Given the description of an element on the screen output the (x, y) to click on. 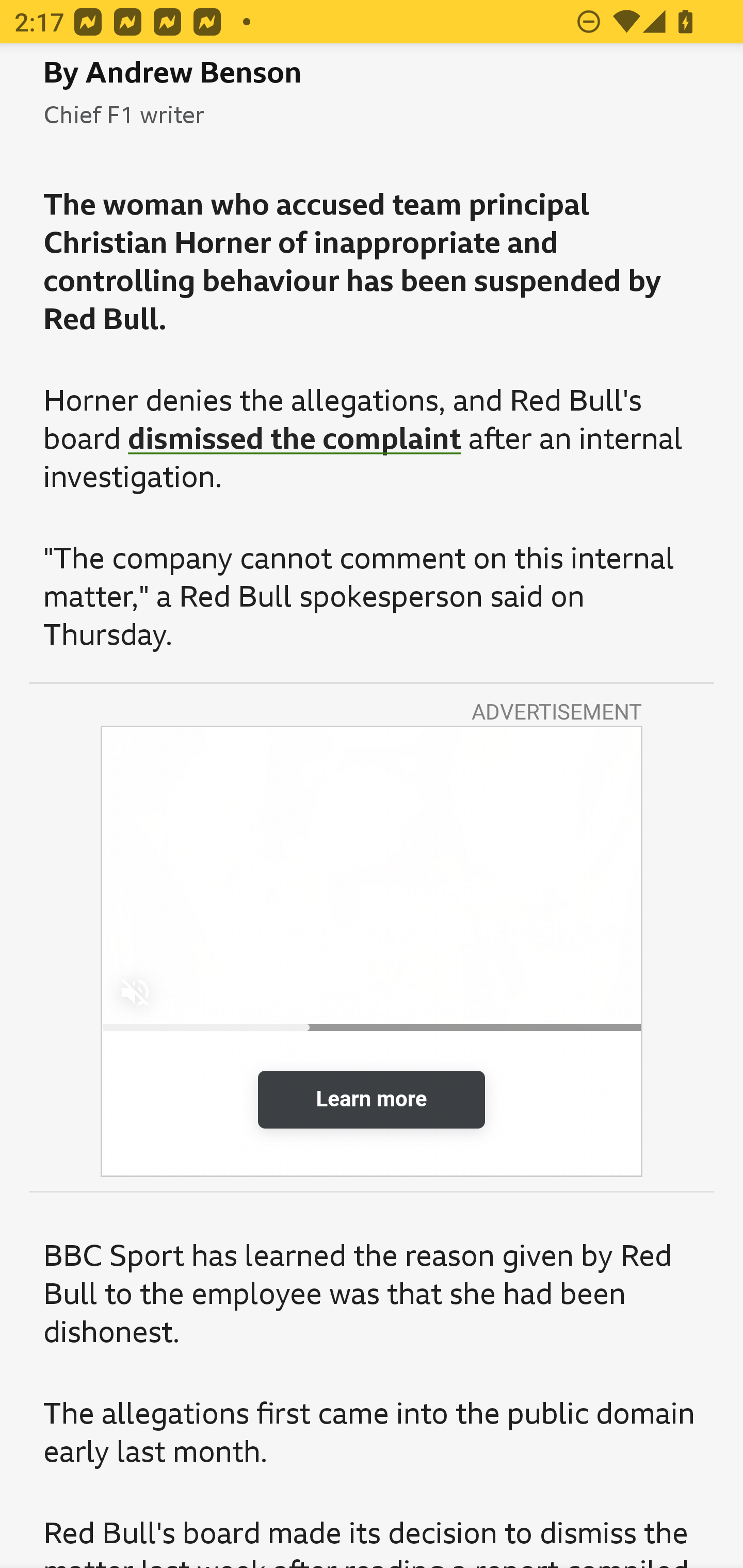
Pause video Unmute video Replay Learn more (371, 951)
Pause video Unmute video (371, 879)
Unmute video (134, 991)
Learn more (371, 1099)
